Given the description of an element on the screen output the (x, y) to click on. 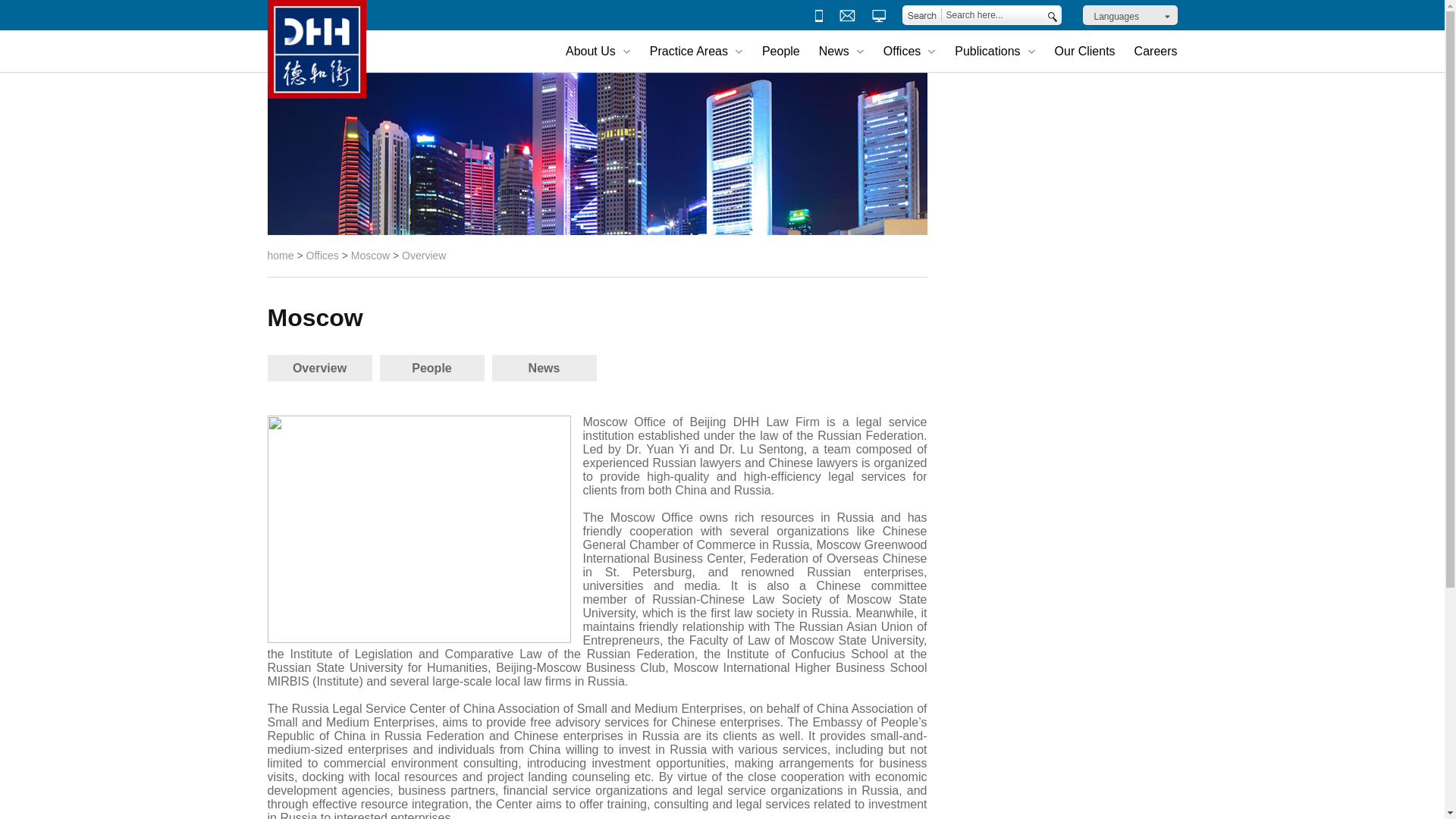
Search here... (993, 14)
Search here... (993, 14)
DHH Law Firm (315, 49)
